Given the description of an element on the screen output the (x, y) to click on. 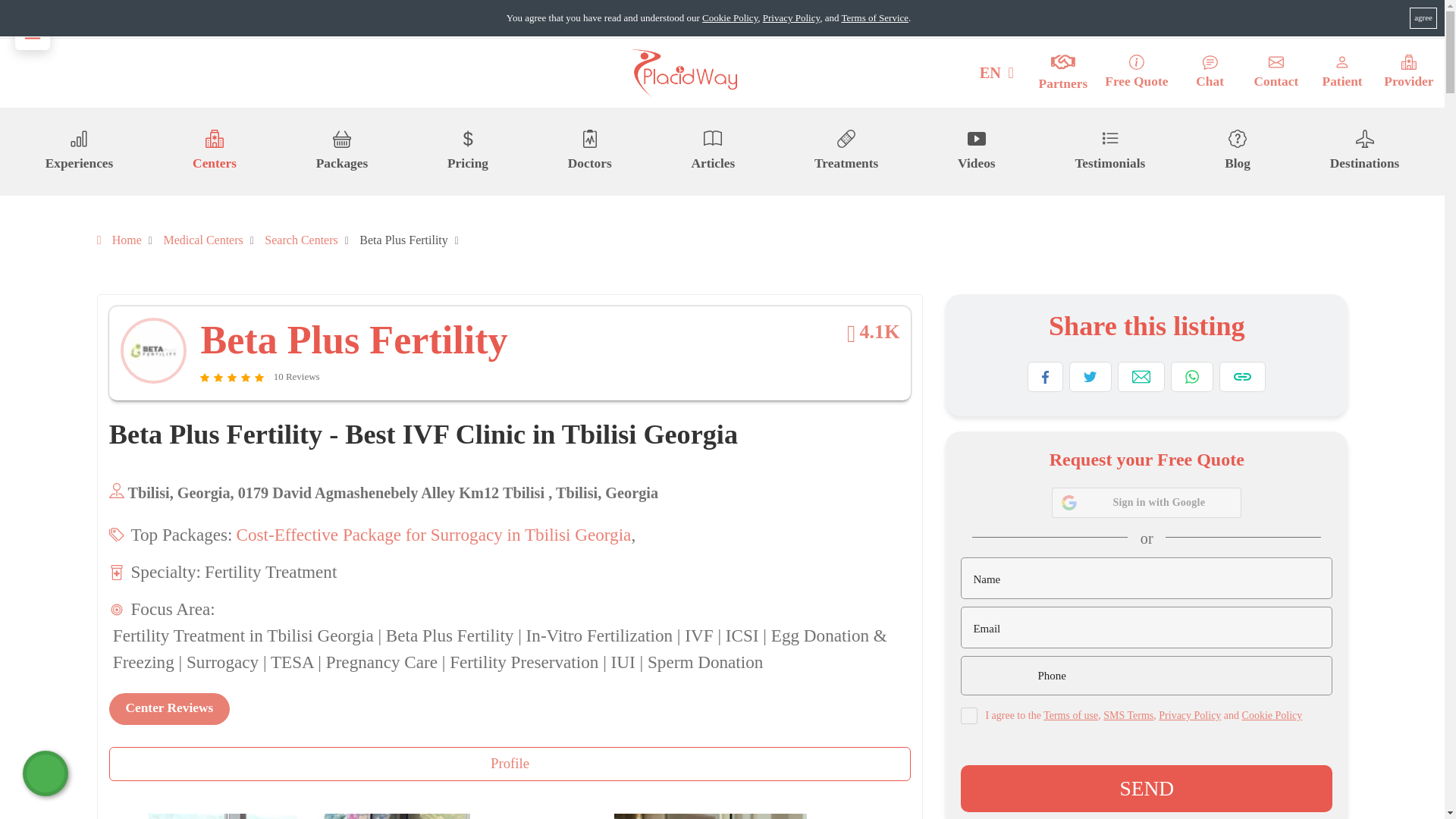
Centers (213, 151)
Pricing (466, 151)
Chat (1210, 72)
Experiences (79, 151)
Contact (1275, 72)
Free Quote (1136, 72)
Articles (712, 151)
on (968, 715)
Videos (976, 151)
Doctors (589, 151)
Profile (510, 763)
Packages (341, 151)
Patient (1342, 72)
Partners (1063, 73)
agree (1423, 17)
